Given the description of an element on the screen output the (x, y) to click on. 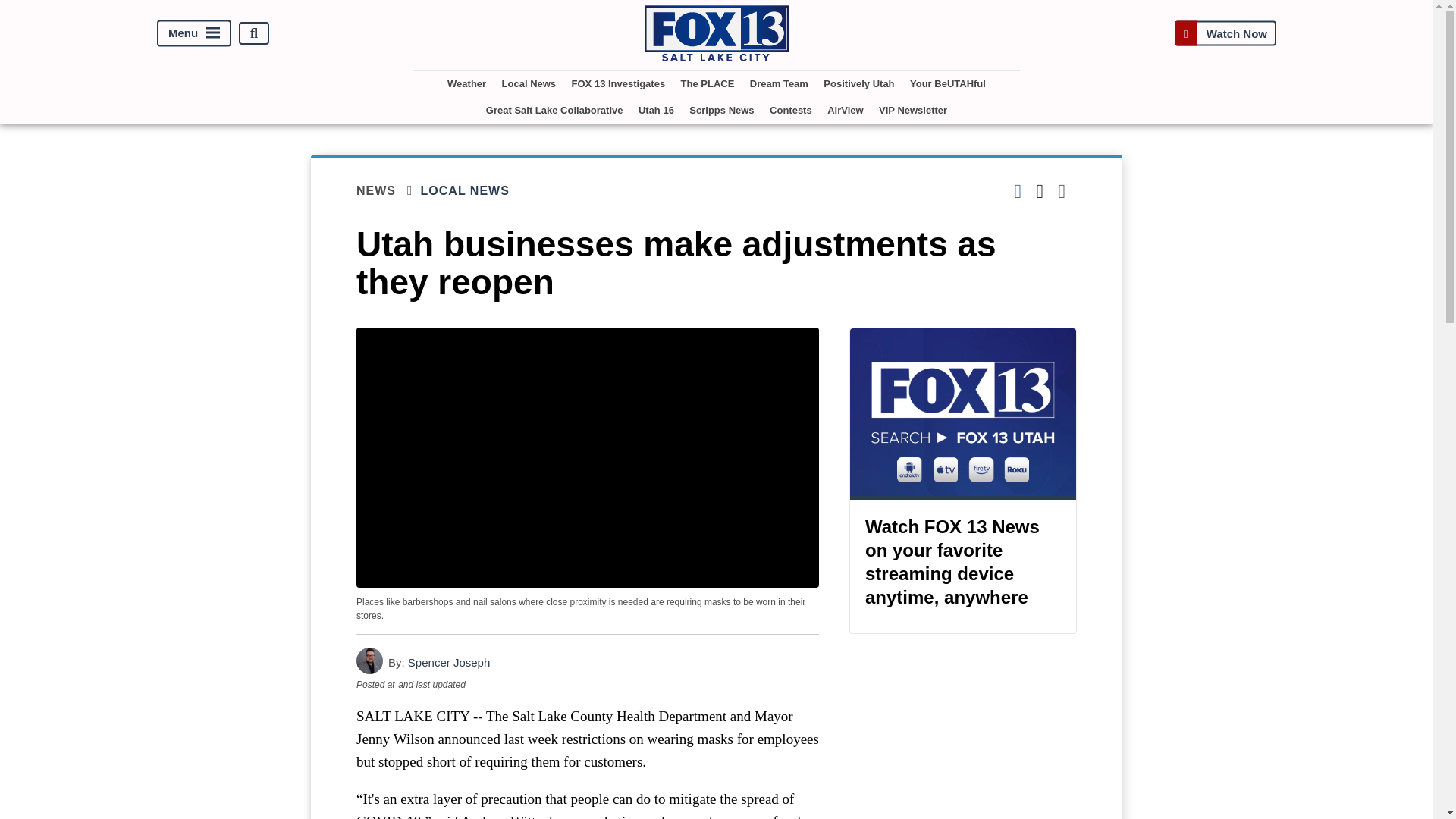
Watch Now (1224, 33)
Menu (194, 33)
